Given the description of an element on the screen output the (x, y) to click on. 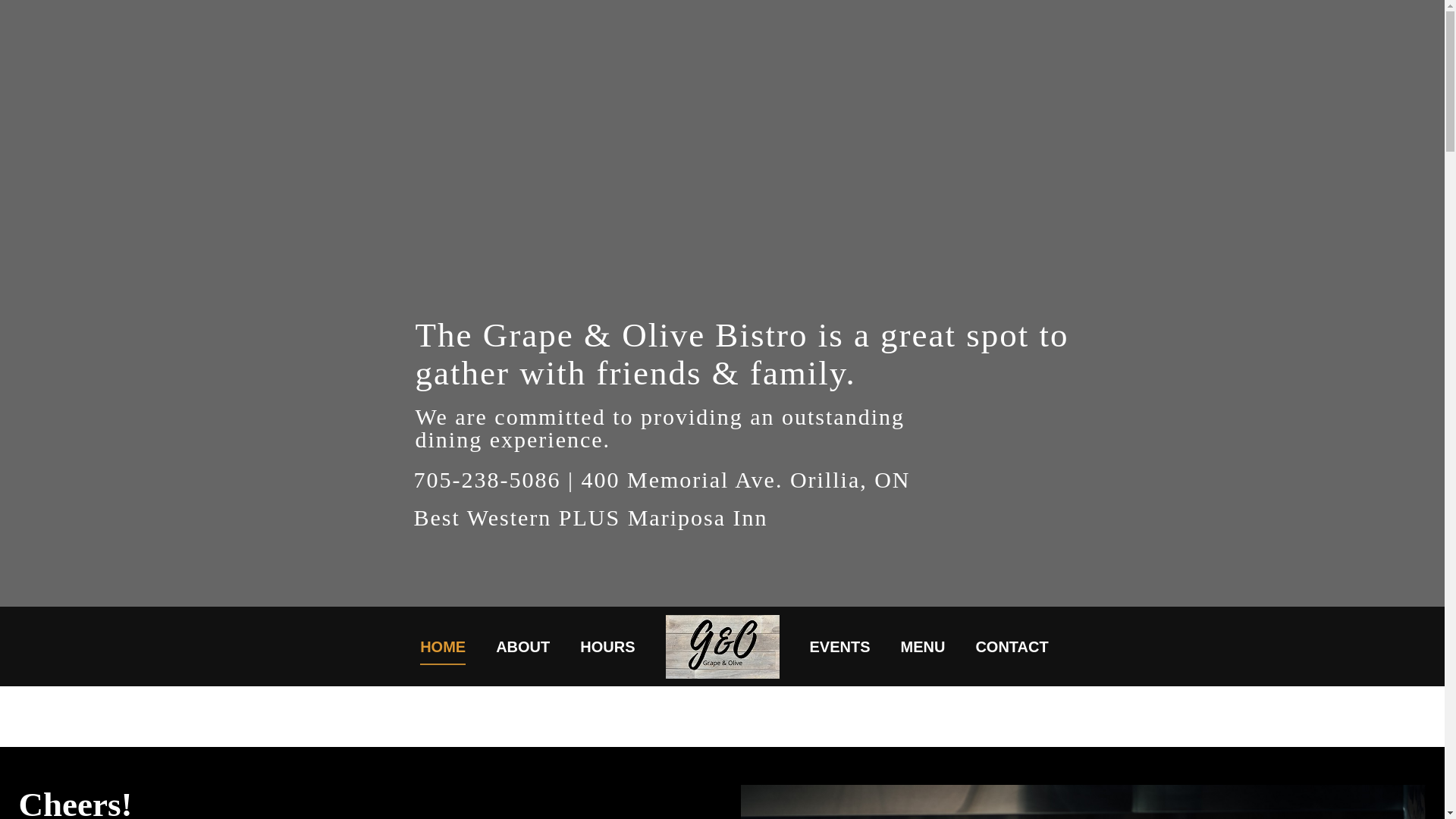
CONTACT (1011, 645)
ABOUT (523, 645)
EVENTS (839, 645)
HOURS (606, 645)
